Given the description of an element on the screen output the (x, y) to click on. 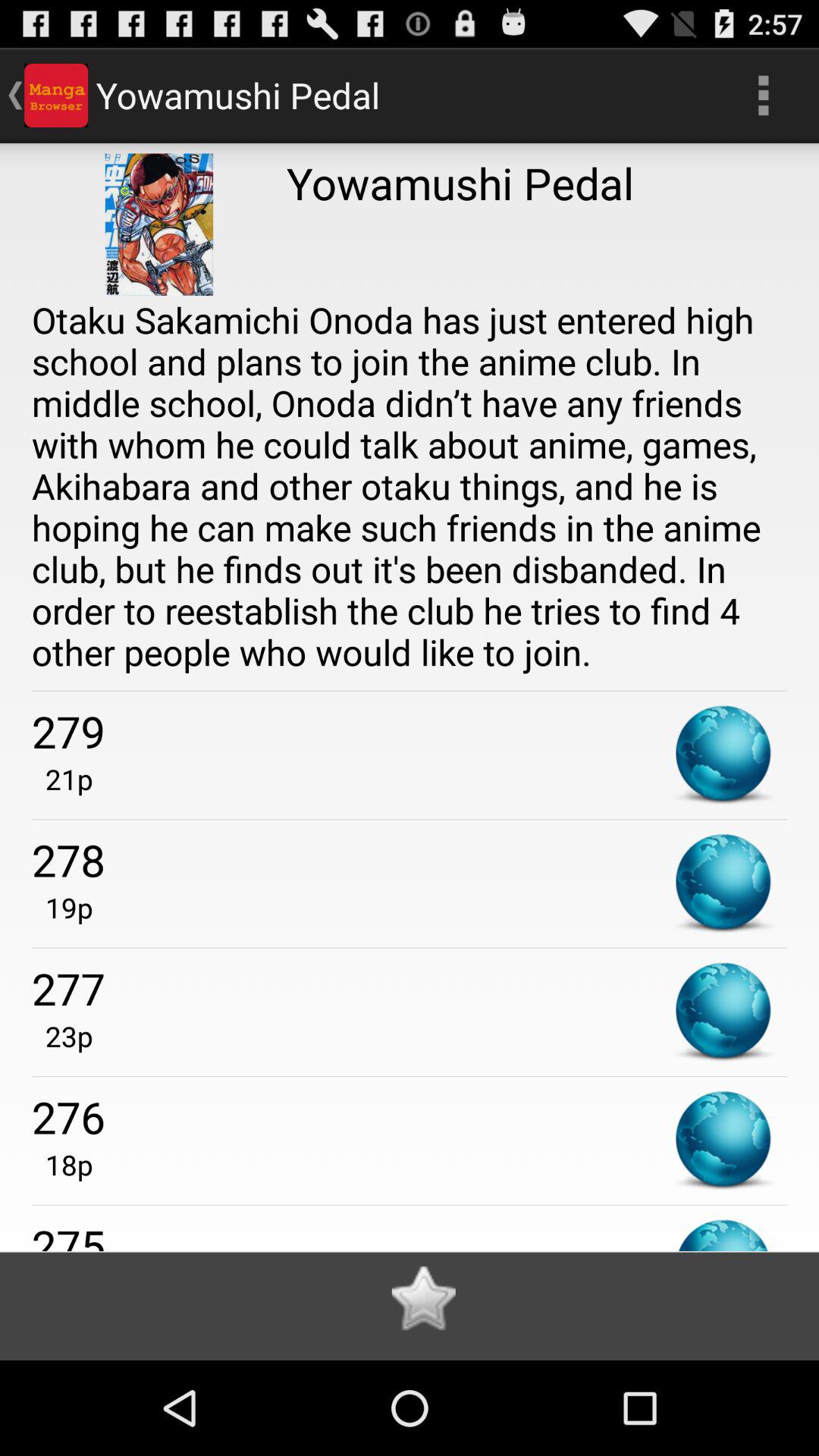
launch the   18p item (61, 1164)
